Given the description of an element on the screen output the (x, y) to click on. 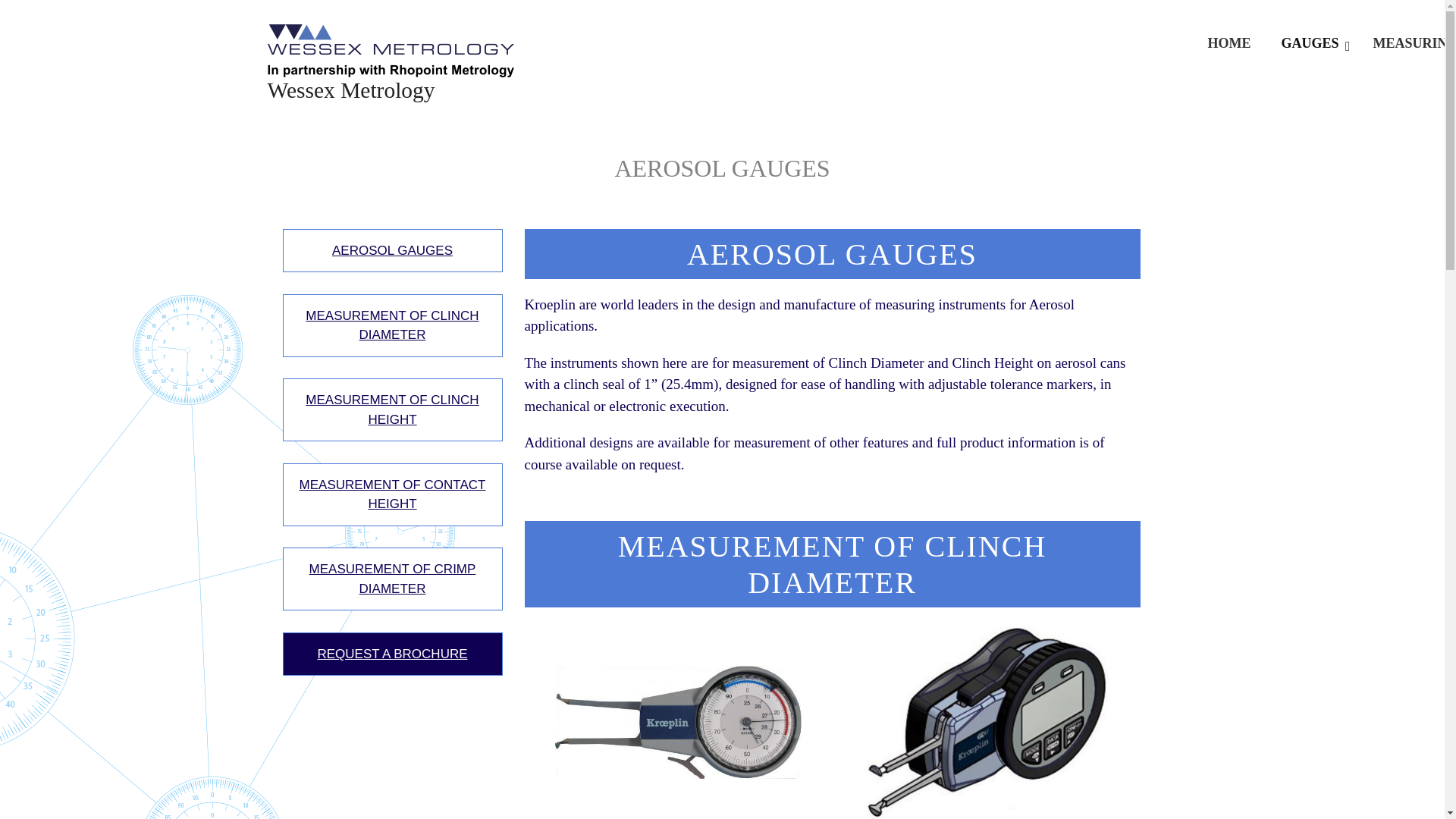
MEASURING DEVICES (1407, 43)
GAUGES (1312, 43)
HOME (1228, 43)
Wessex Metrology (349, 89)
